Given the description of an element on the screen output the (x, y) to click on. 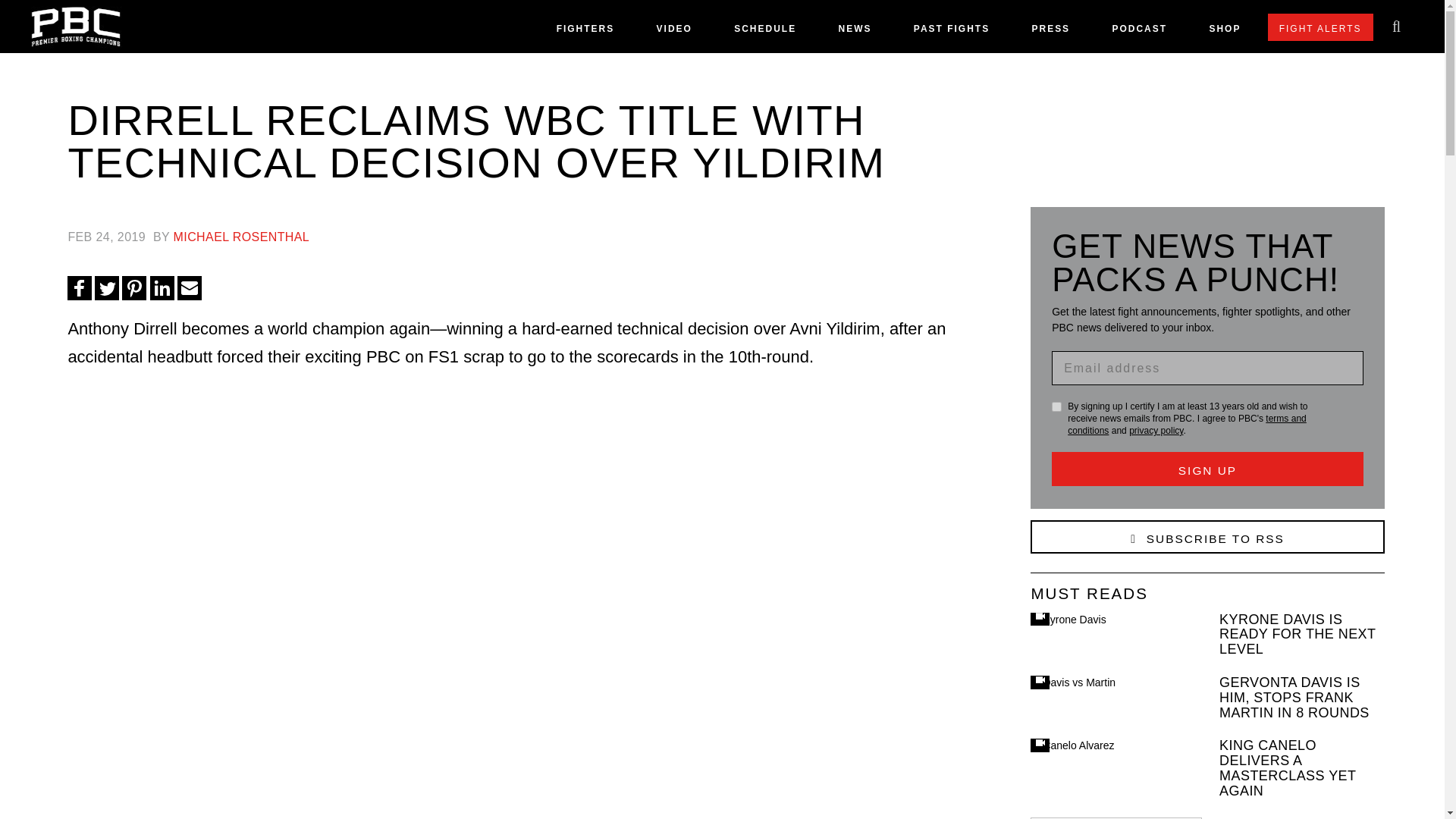
Email (189, 288)
age (1056, 406)
Facebook (78, 288)
Twitter (106, 288)
Premier Boxing Champions (1062, 327)
SCHEDULE (764, 31)
PODCAST (1139, 31)
PRESS (1050, 31)
NEWS (854, 31)
MICHAEL ROSENTHAL (241, 236)
